Given the description of an element on the screen output the (x, y) to click on. 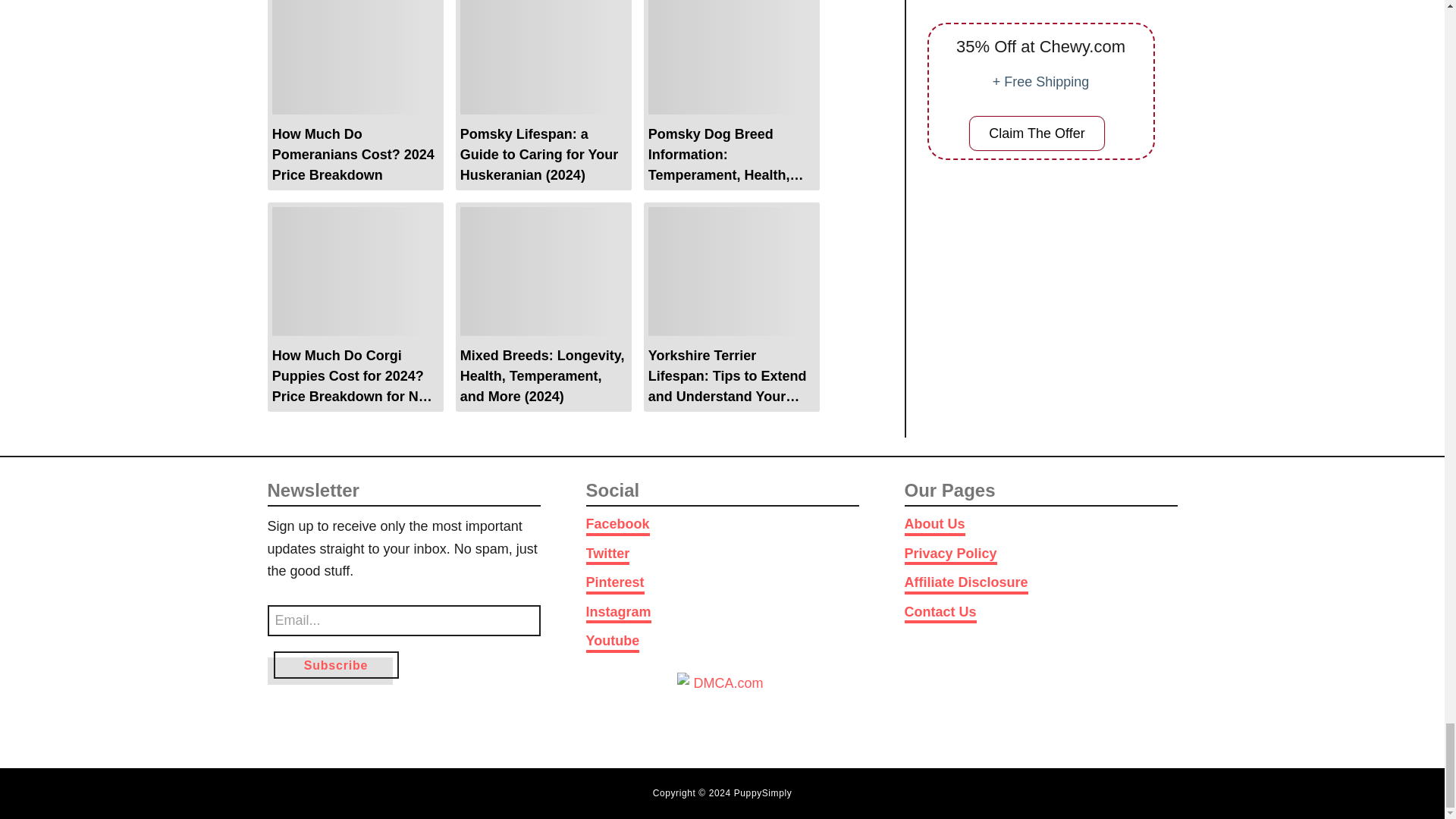
DMCA.com Protection Status (722, 705)
Subscribe (335, 664)
